Given the description of an element on the screen output the (x, y) to click on. 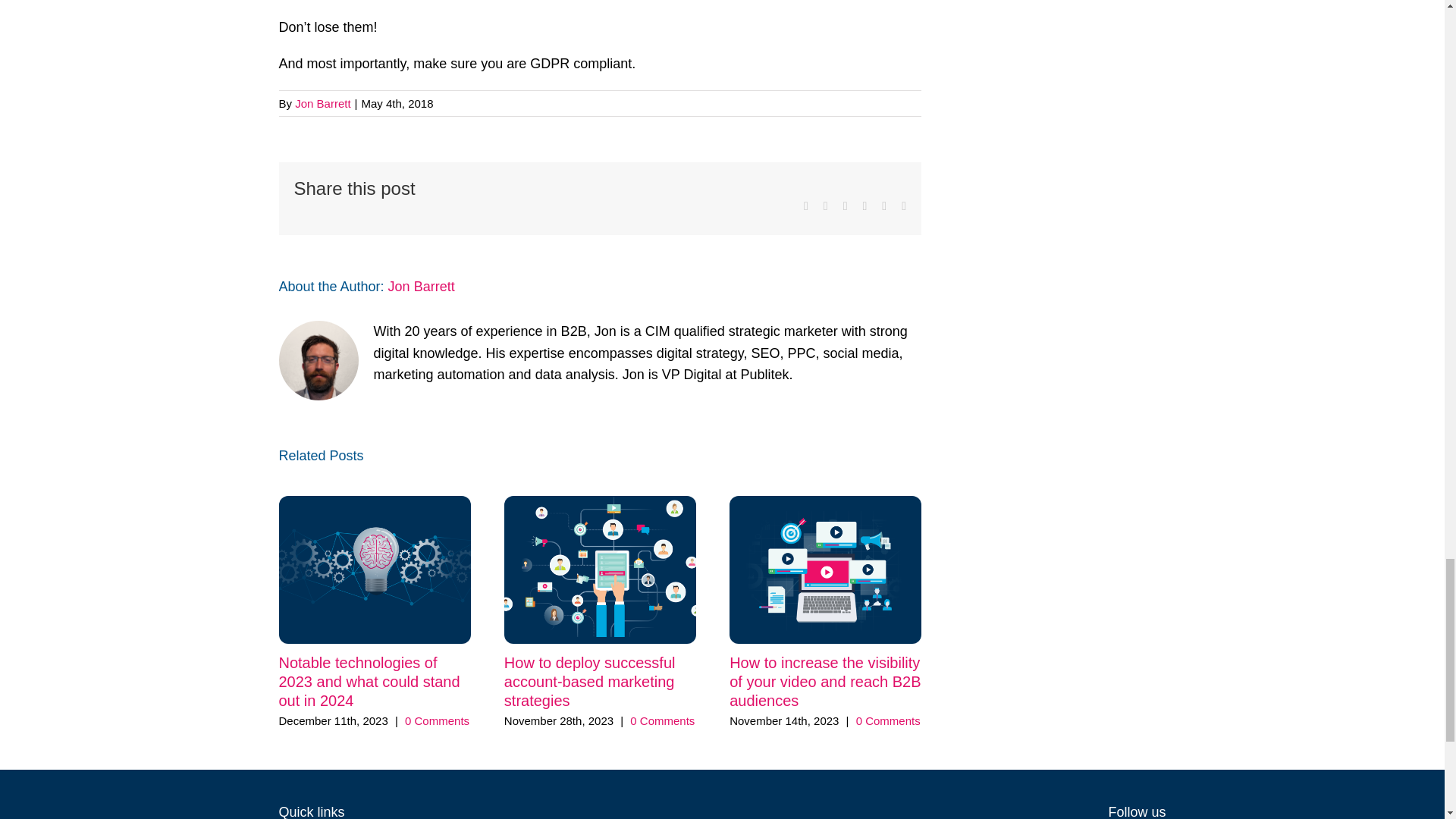
How to deploy successful account-based marketing strategies (589, 681)
Posts by Jon Barrett (421, 286)
Posts by Jon Barrett (322, 103)
